Given the description of an element on the screen output the (x, y) to click on. 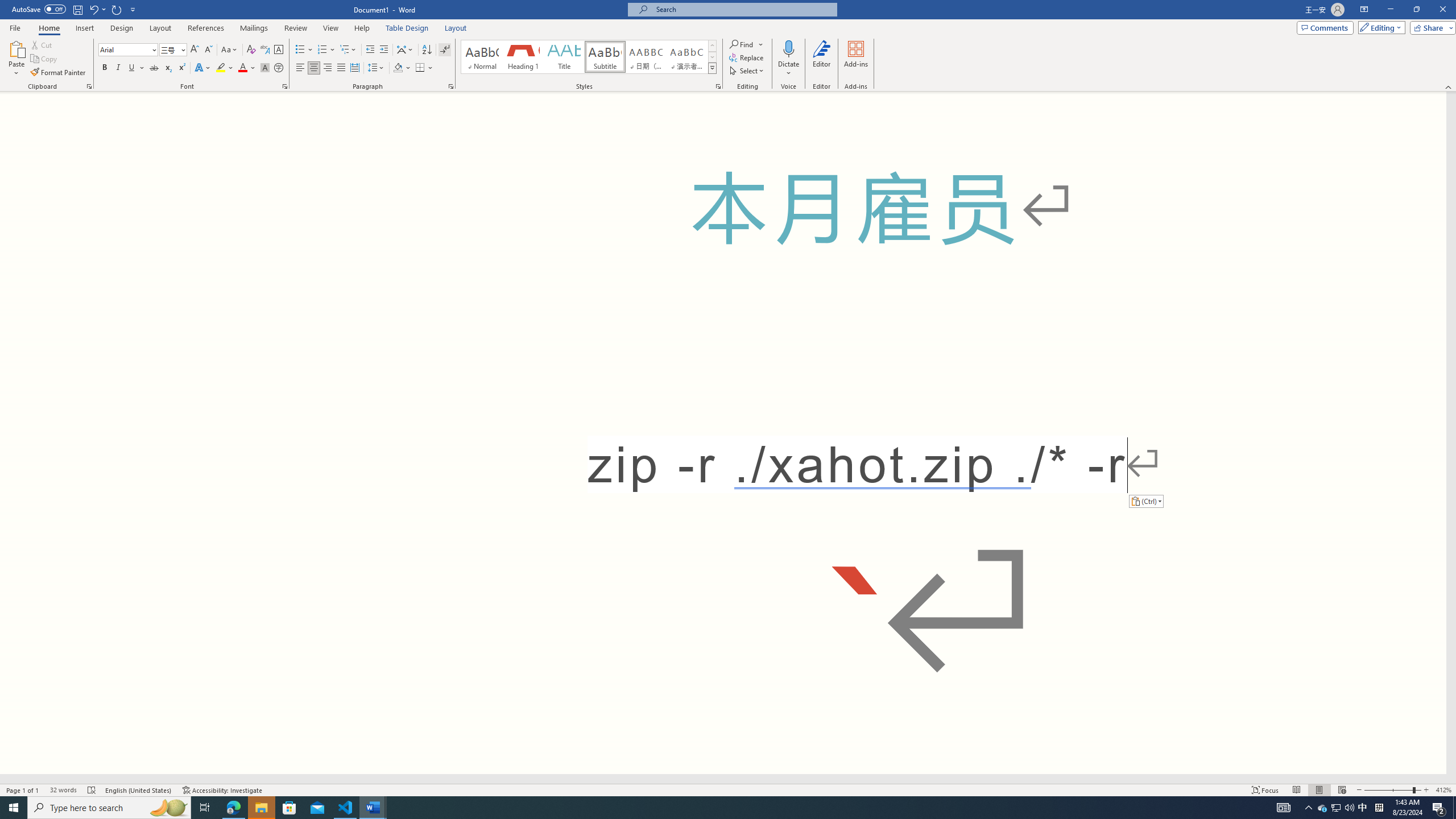
Title (564, 56)
